Given the description of an element on the screen output the (x, y) to click on. 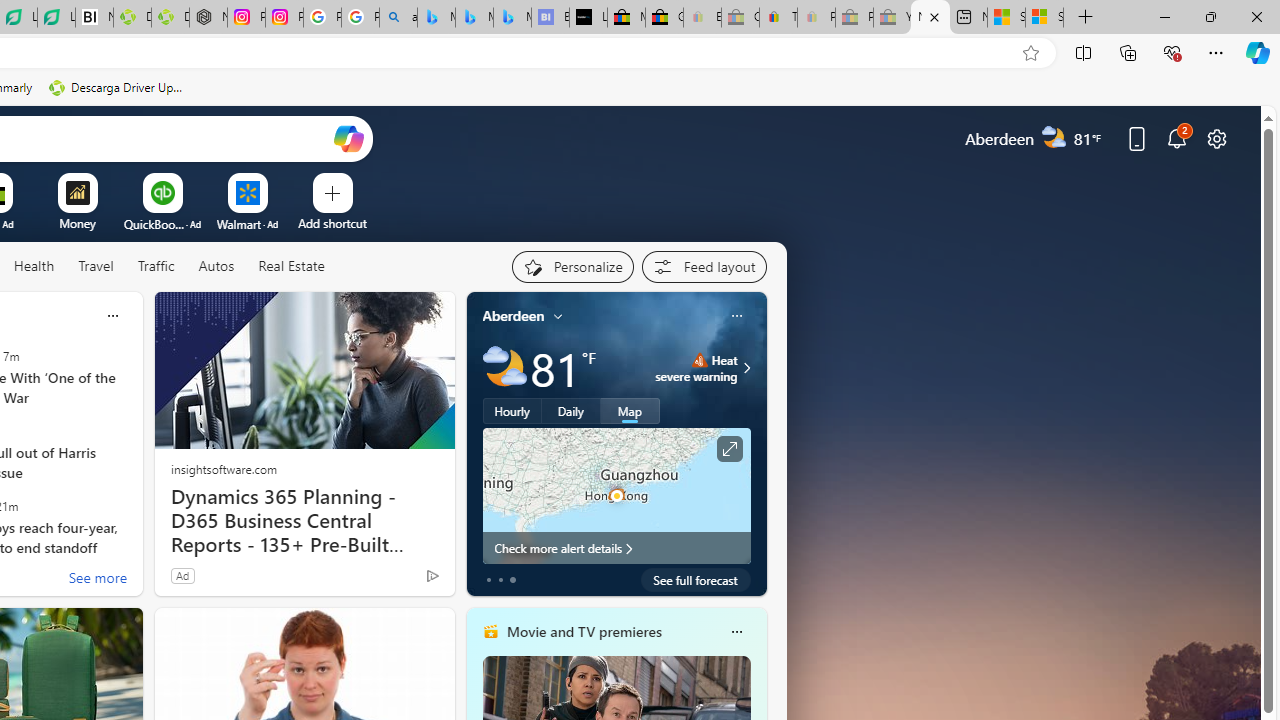
Check more alert details (616, 547)
insightsoftware.com (223, 468)
Yard, Garden & Outdoor Living - Sleeping (892, 17)
tab-1 (500, 579)
